Given the description of an element on the screen output the (x, y) to click on. 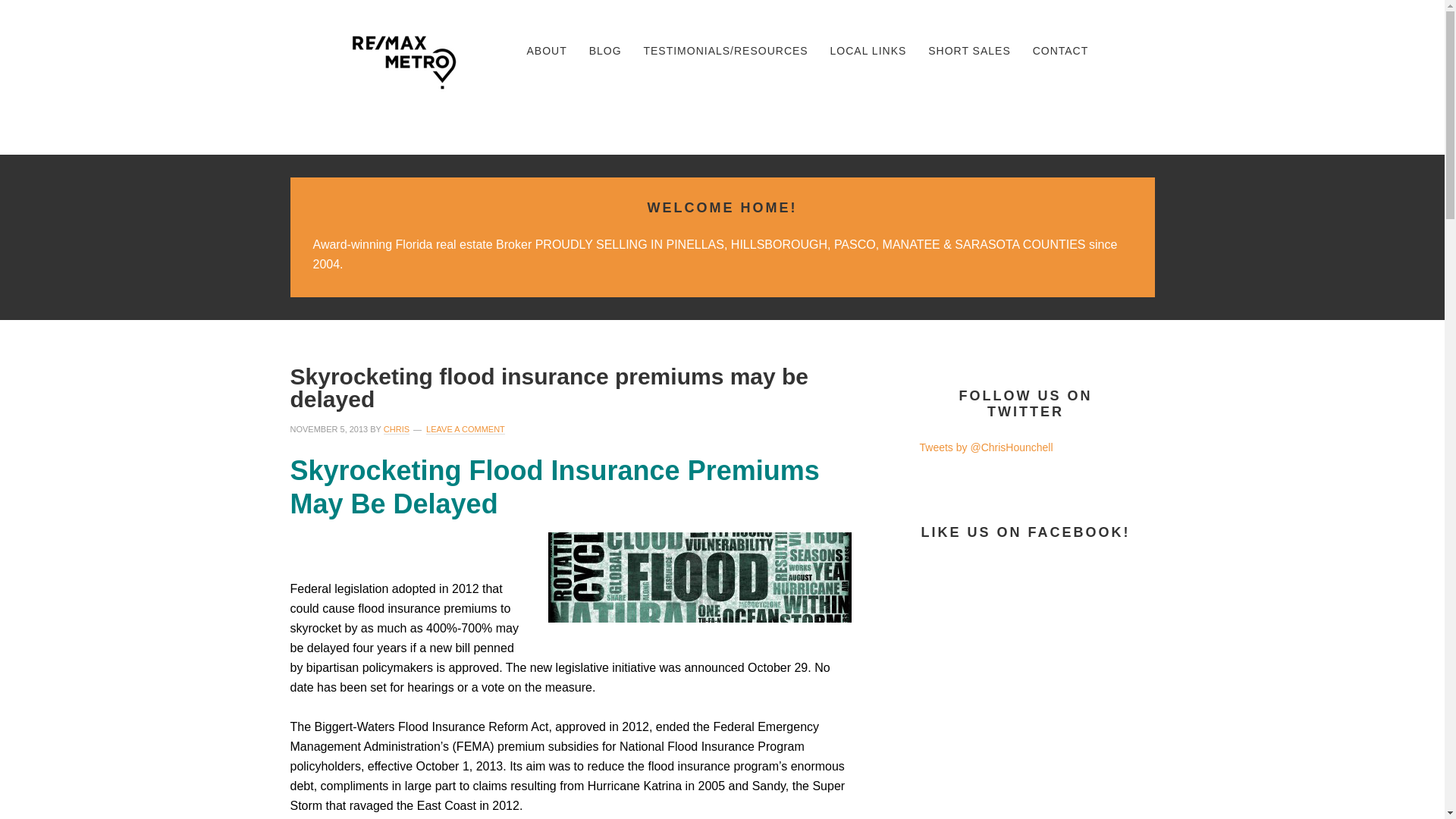
ABOUT (545, 51)
Facebook (1035, 98)
flood image (698, 577)
Twitter (1130, 98)
LEAVE A COMMENT (465, 429)
CHRIS (396, 429)
LinkedIn (1083, 98)
LinkedIn (1082, 98)
Twitter (1131, 98)
Facebook (1034, 98)
